Given the description of an element on the screen output the (x, y) to click on. 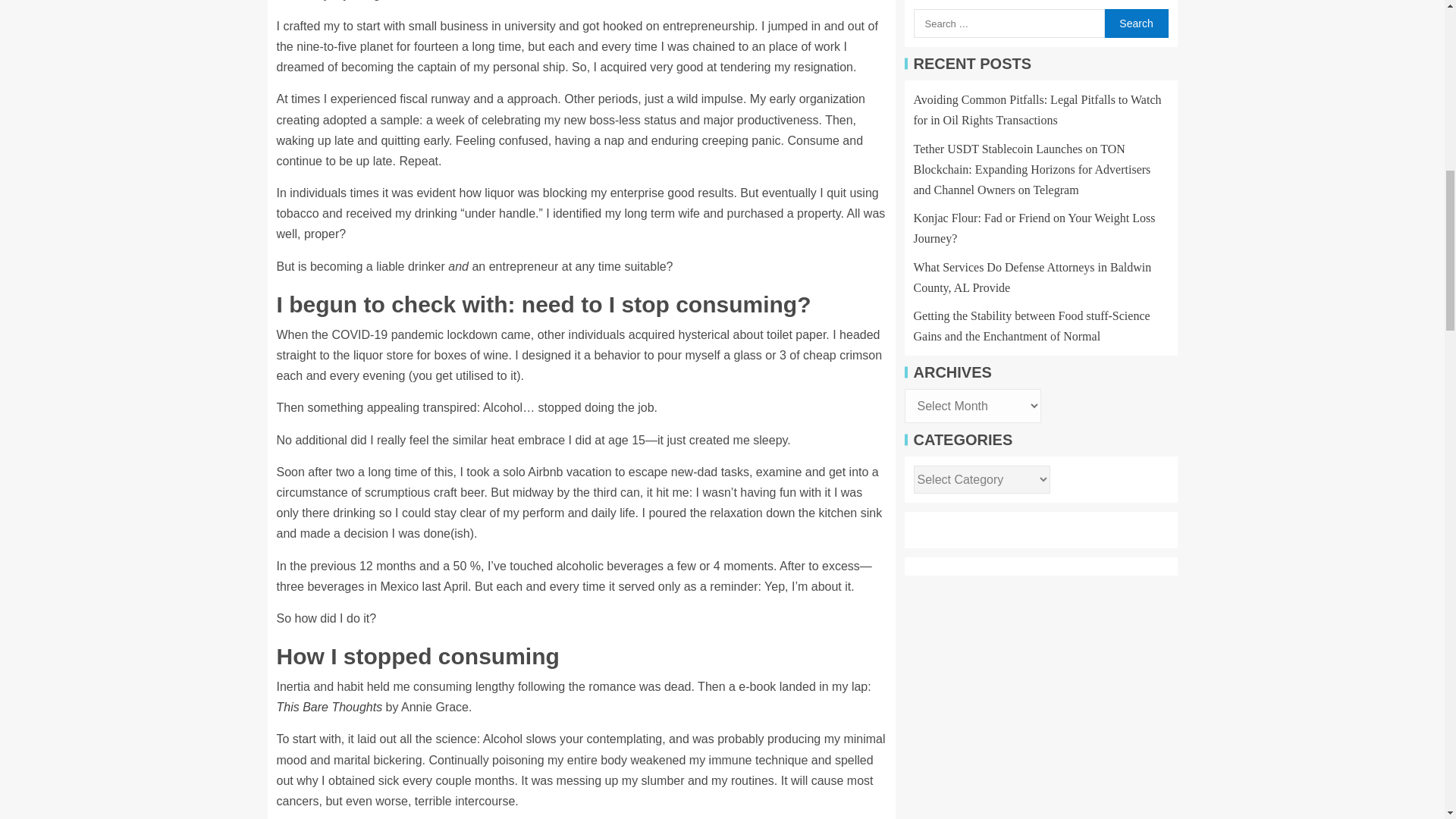
This Bare Thoughts (328, 707)
